Given the description of an element on the screen output the (x, y) to click on. 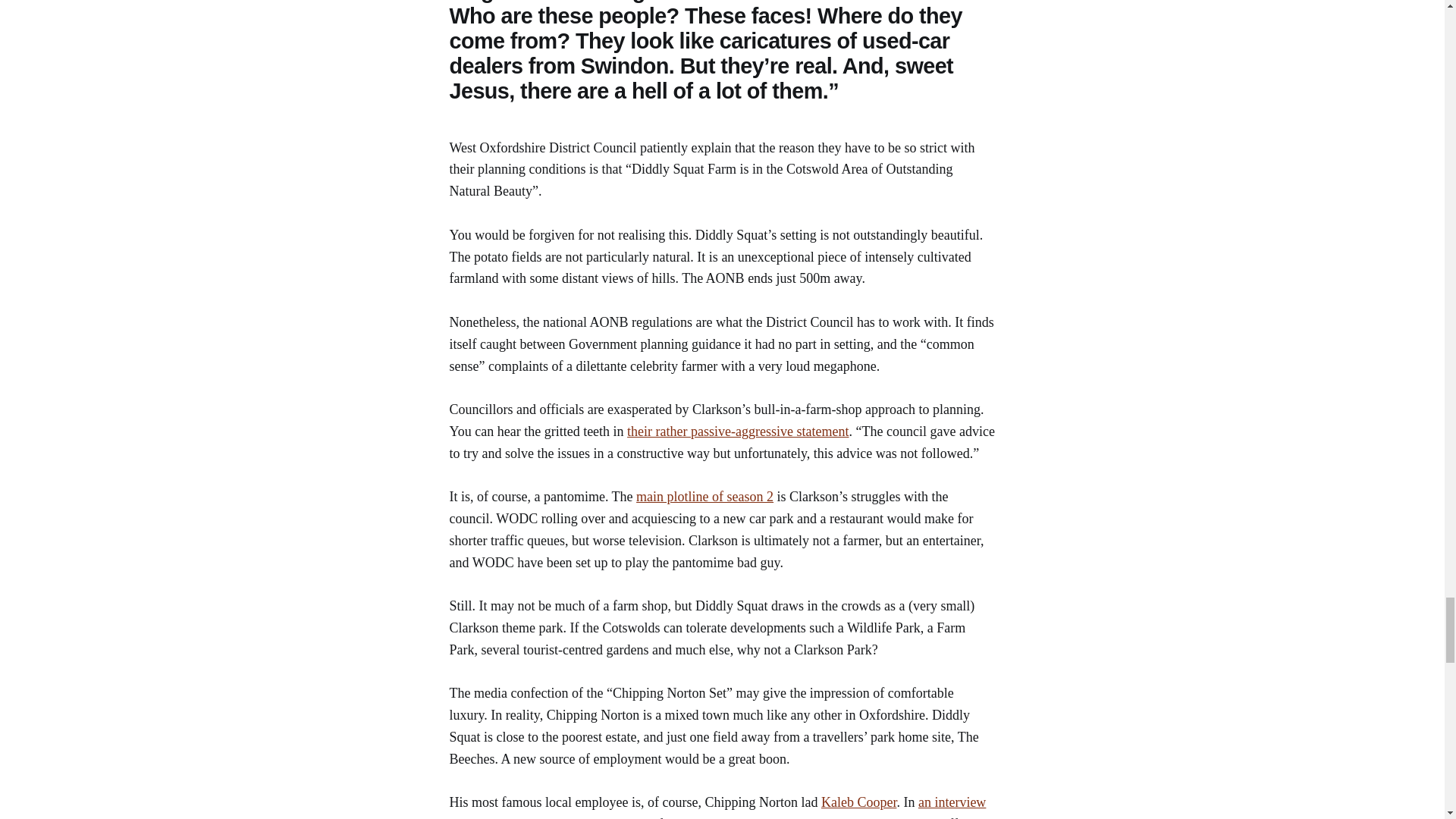
an interview with the Sun (716, 806)
main plotline of season 2 (704, 496)
Kaleb Cooper (858, 801)
their rather passive-aggressive statement (737, 431)
